Given the description of an element on the screen output the (x, y) to click on. 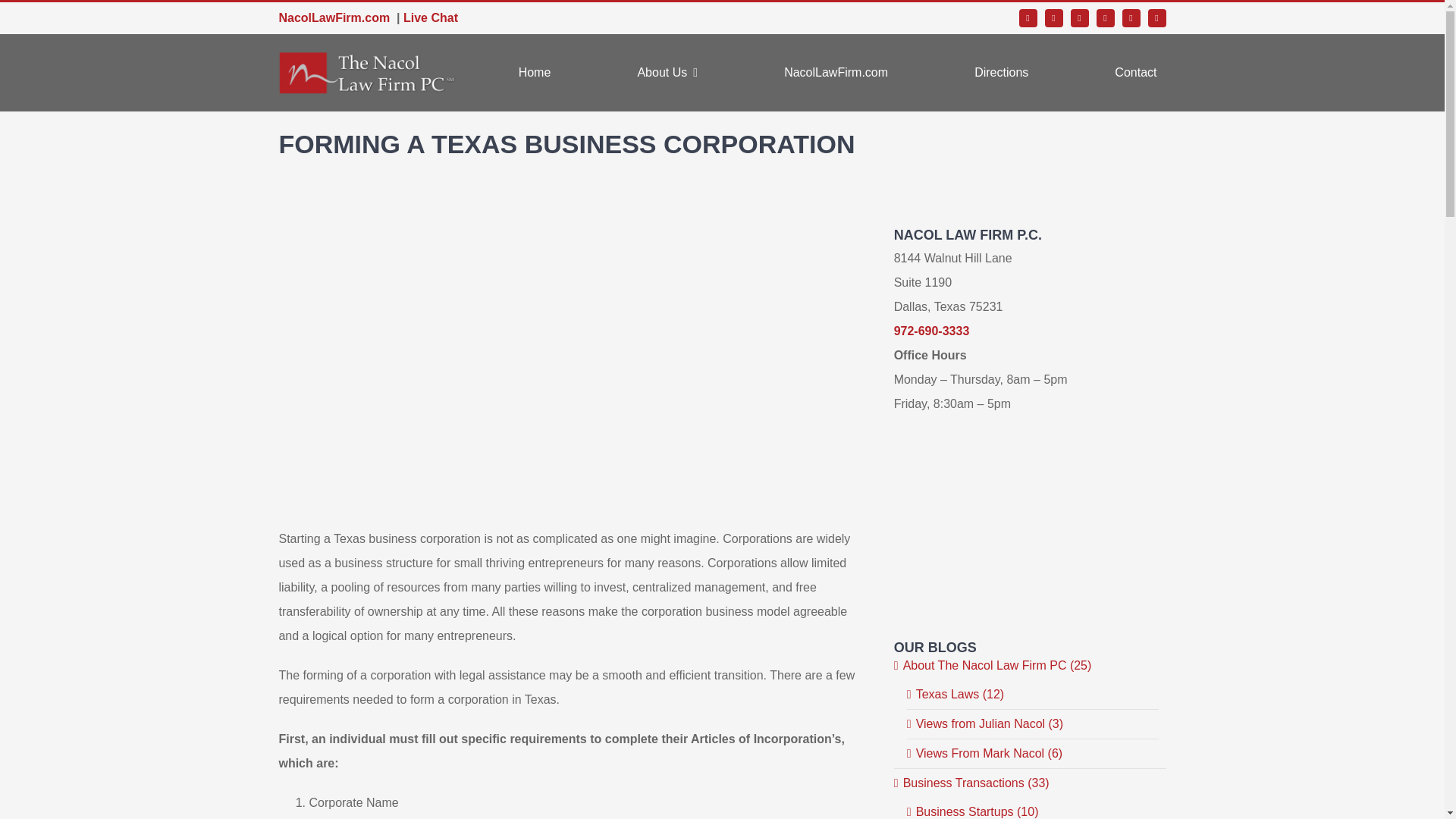
NacolLawFirm.com (334, 17)
Home (534, 72)
Directions (1000, 72)
Live Chat (430, 17)
Contact (1135, 72)
Twitter (1053, 18)
NacolLawFirm.com (835, 72)
YouTube (1105, 18)
Instagram (1079, 18)
LinkedIn (1131, 18)
